Given the description of an element on the screen output the (x, y) to click on. 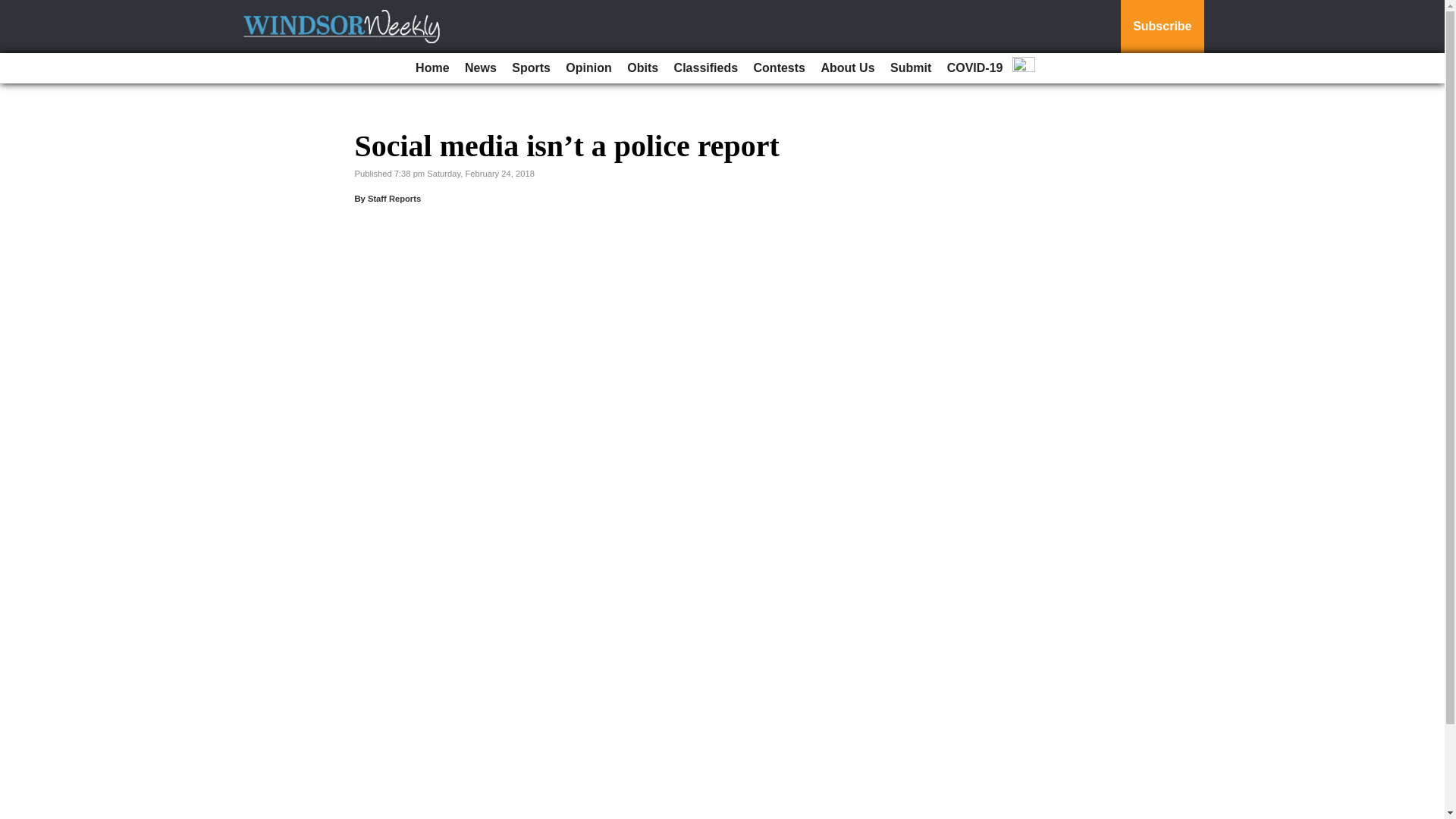
Sports (530, 68)
COVID-19 (974, 68)
Opinion (588, 68)
Obits (642, 68)
Subscribe (1162, 26)
Classifieds (706, 68)
About Us (846, 68)
News (480, 68)
Home (431, 68)
Go (13, 9)
